Given the description of an element on the screen output the (x, y) to click on. 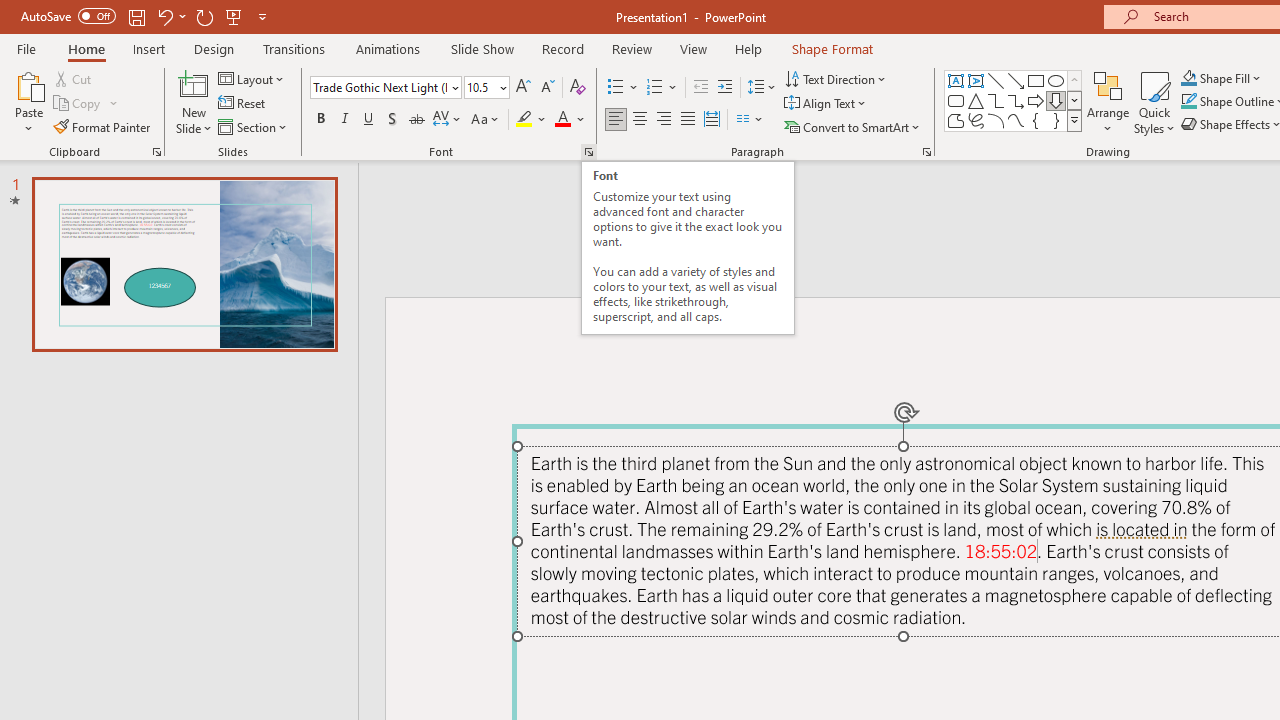
Line Arrow (1016, 80)
Curve (1016, 120)
Font Color Red (562, 119)
Bullets (616, 87)
Text Box (955, 80)
Connector: Elbow (995, 100)
Decrease Indent (700, 87)
Decrease Font Size (547, 87)
Isosceles Triangle (975, 100)
Vertical Text Box (975, 80)
Align Right (663, 119)
